Given the description of an element on the screen output the (x, y) to click on. 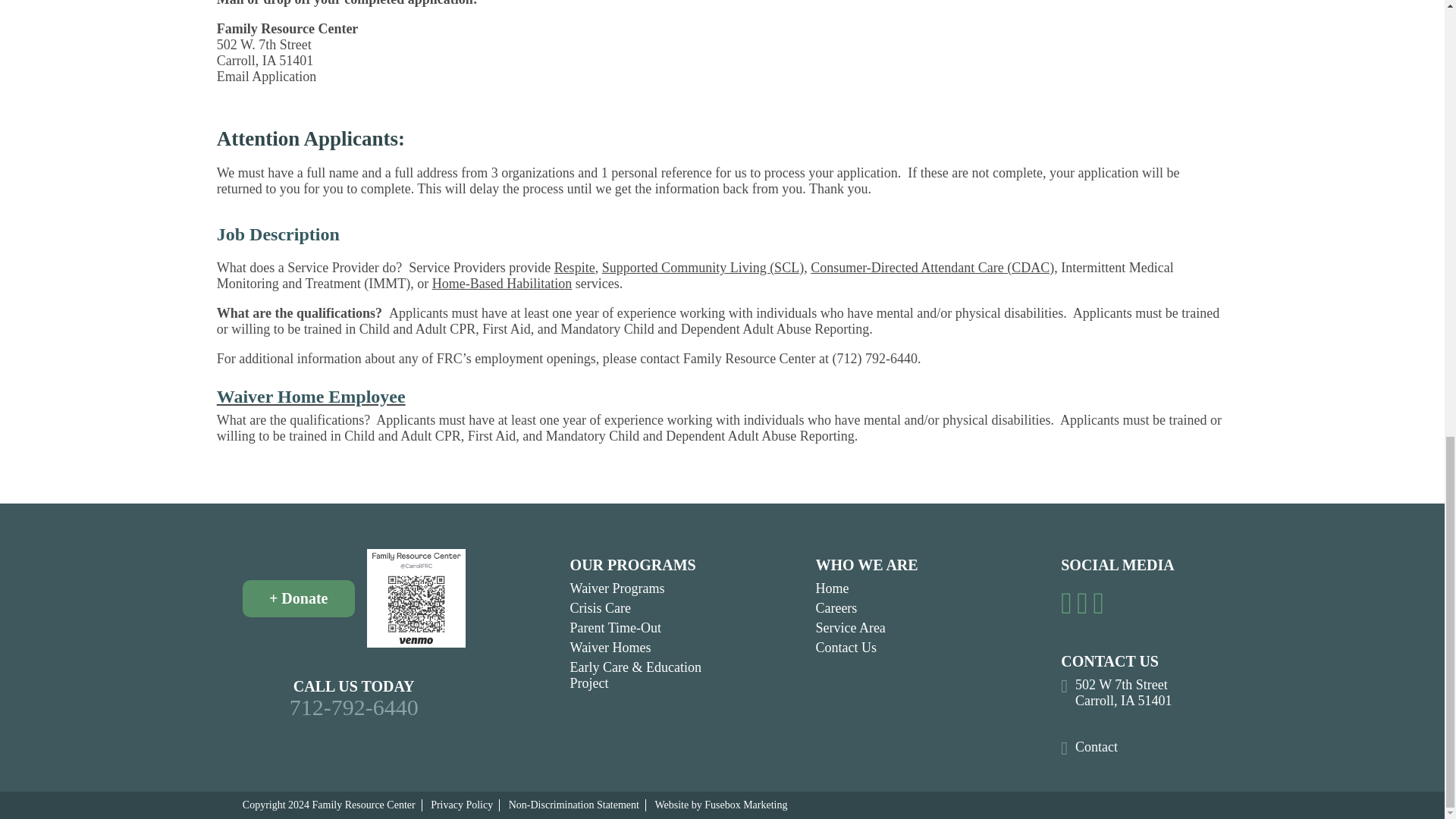
Home-Based Habilitation (502, 283)
Respite (574, 267)
What does a Service Provider do? (308, 267)
Email Application (265, 76)
Waiver Home Employee (722, 396)
